Given the description of an element on the screen output the (x, y) to click on. 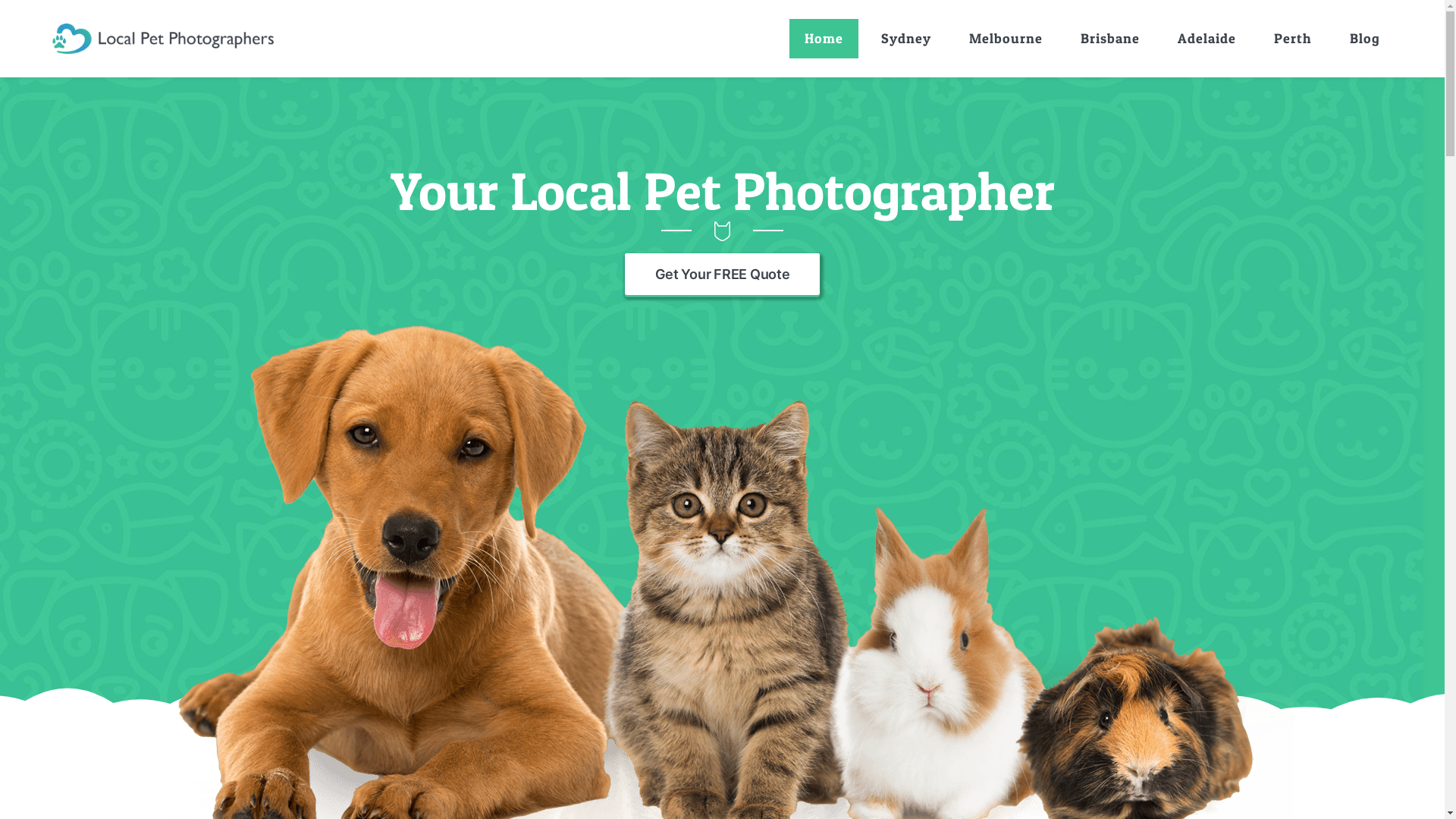
Brisbane Element type: text (1109, 38)
Melbourne Element type: text (1005, 38)
Perth Element type: text (1292, 38)
Get Your FREE Quote Element type: text (722, 273)
Adelaide Element type: text (1206, 38)
line_separator Element type: hover (722, 231)
Blog Element type: text (1364, 38)
Sydney Element type: text (906, 38)
Home Element type: text (823, 38)
